Given the description of an element on the screen output the (x, y) to click on. 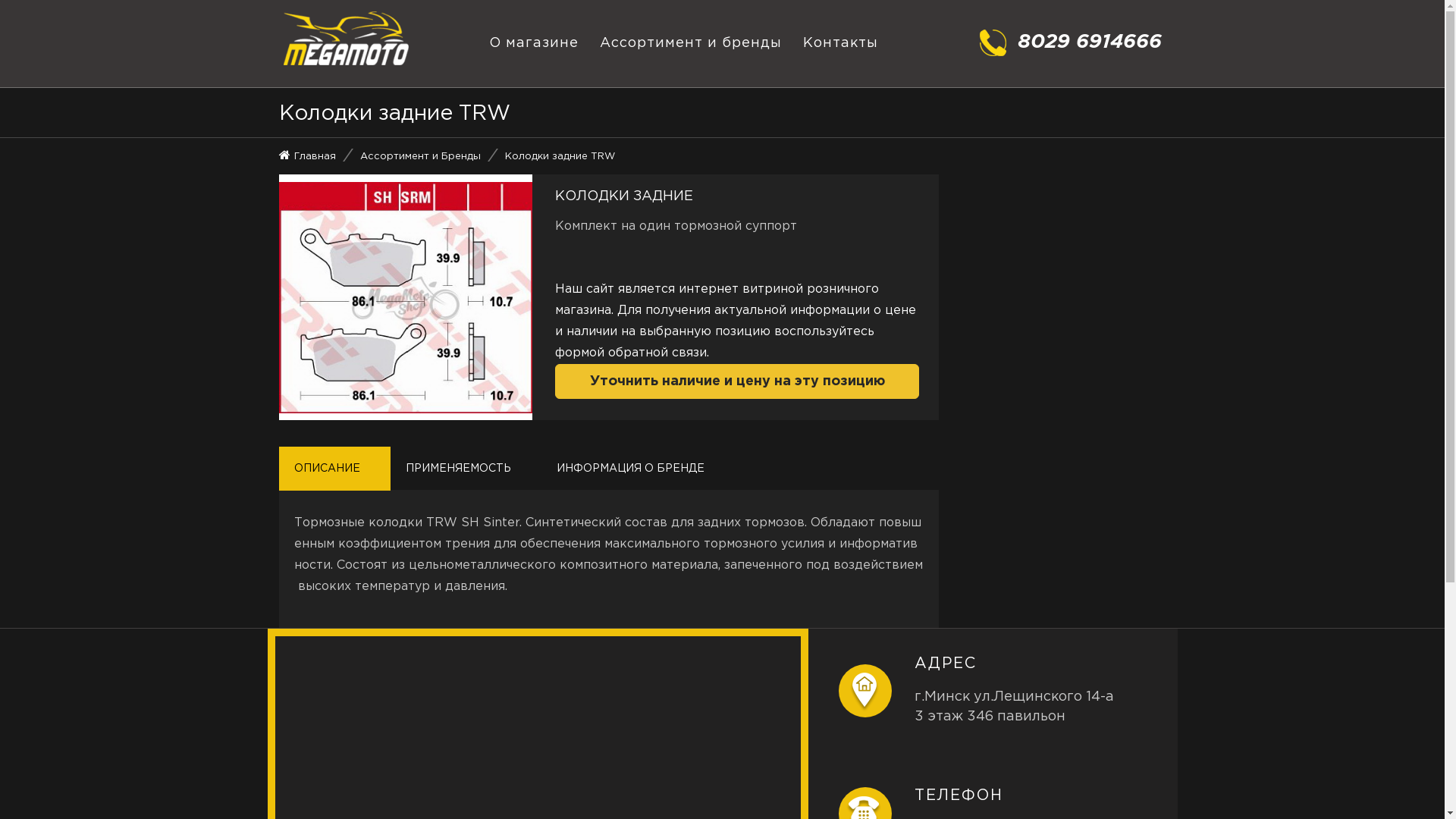
8029 6914666 Element type: text (1070, 42)
